Given the description of an element on the screen output the (x, y) to click on. 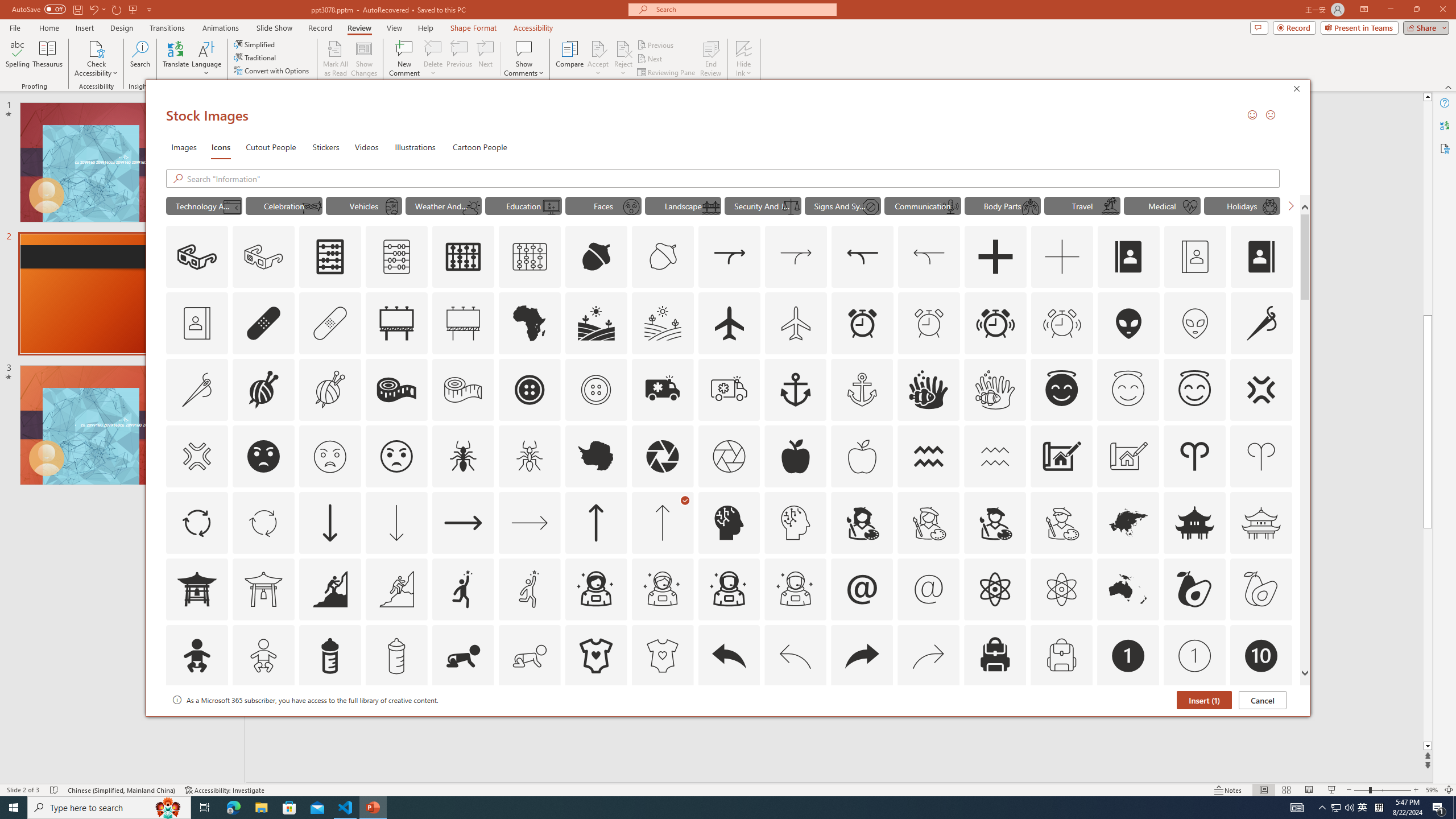
AutomationID: Icons_Airplane_M (796, 323)
AutomationID: Icons_Agriculture (596, 323)
AutomationID: Icons_AngelFace_M (1128, 389)
AutomationID: Icons_Atom_M (1061, 588)
AutomationID: Icons_Aperture_M (729, 455)
"Landscape" Icons. (682, 205)
